Given the description of an element on the screen output the (x, y) to click on. 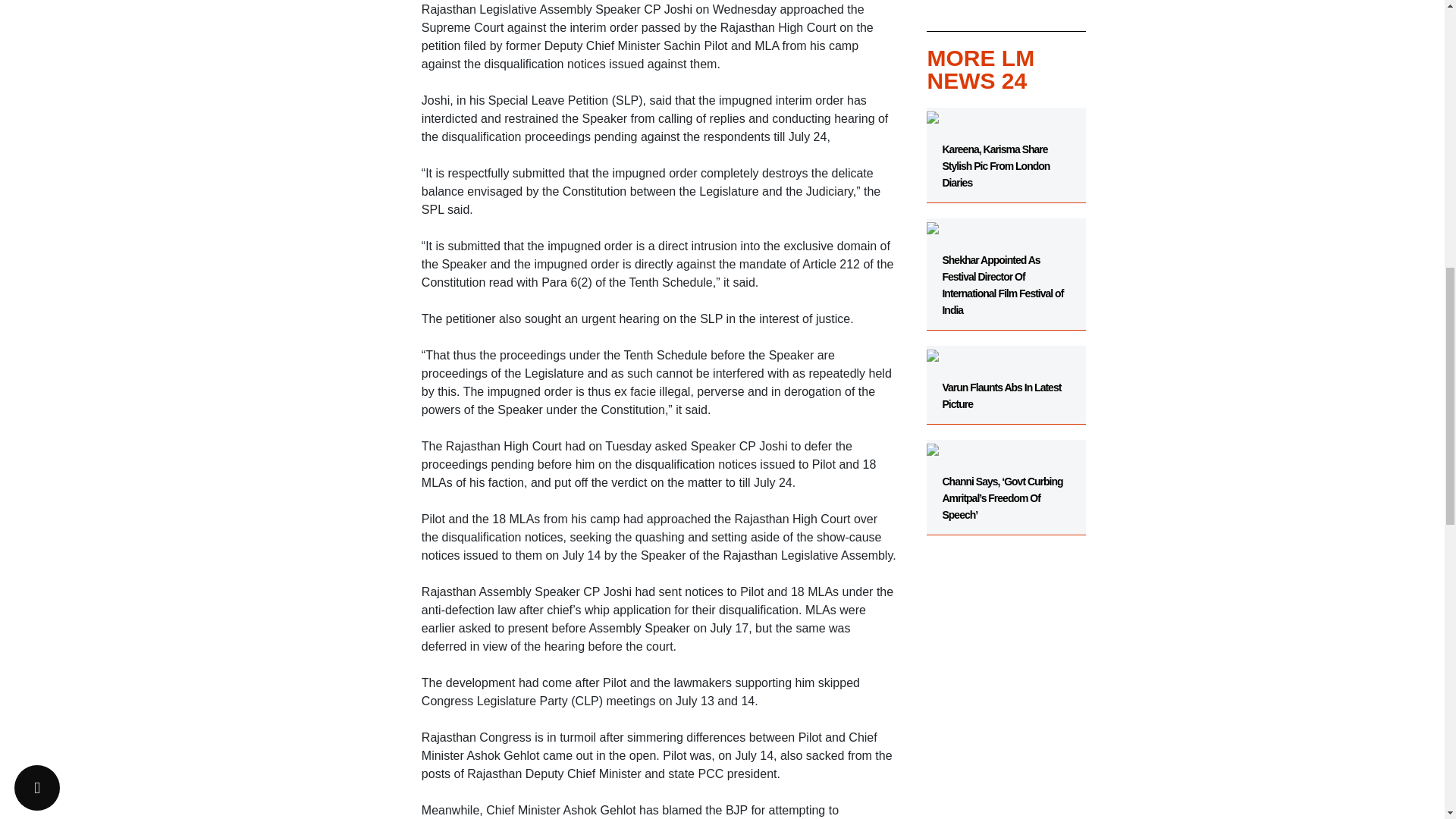
Varun Flaunts Abs In Latest Picture (1006, 377)
Kareena, Karisma Share Stylish Pic From London Diaries (1006, 155)
